Given the description of an element on the screen output the (x, y) to click on. 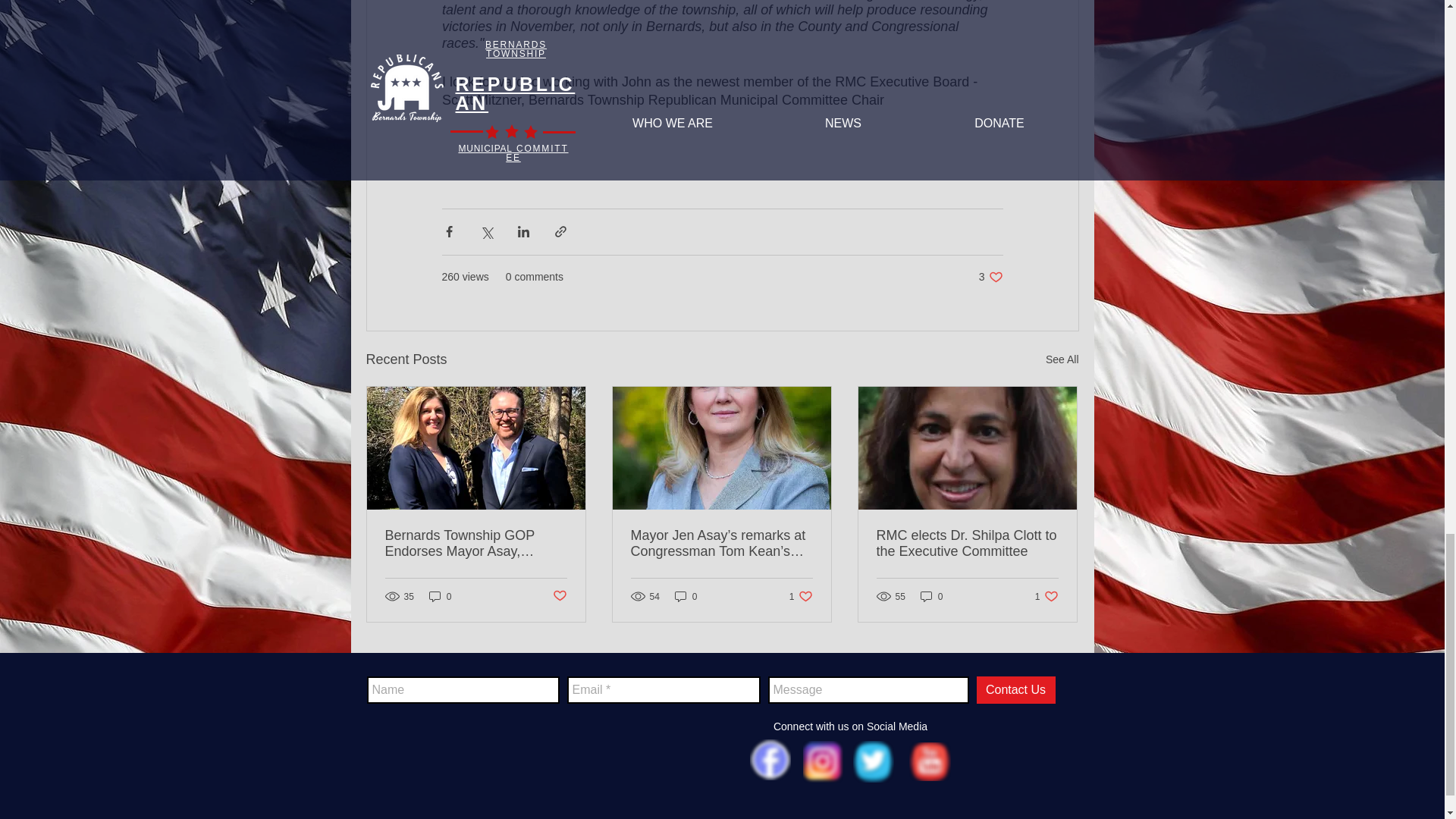
Post not marked as liked (558, 596)
RMC elects Dr. Shilpa Clott to the Executive Committee (967, 543)
0 (1046, 595)
0 (440, 595)
See All (800, 595)
Contact Us (931, 595)
